Given the description of an element on the screen output the (x, y) to click on. 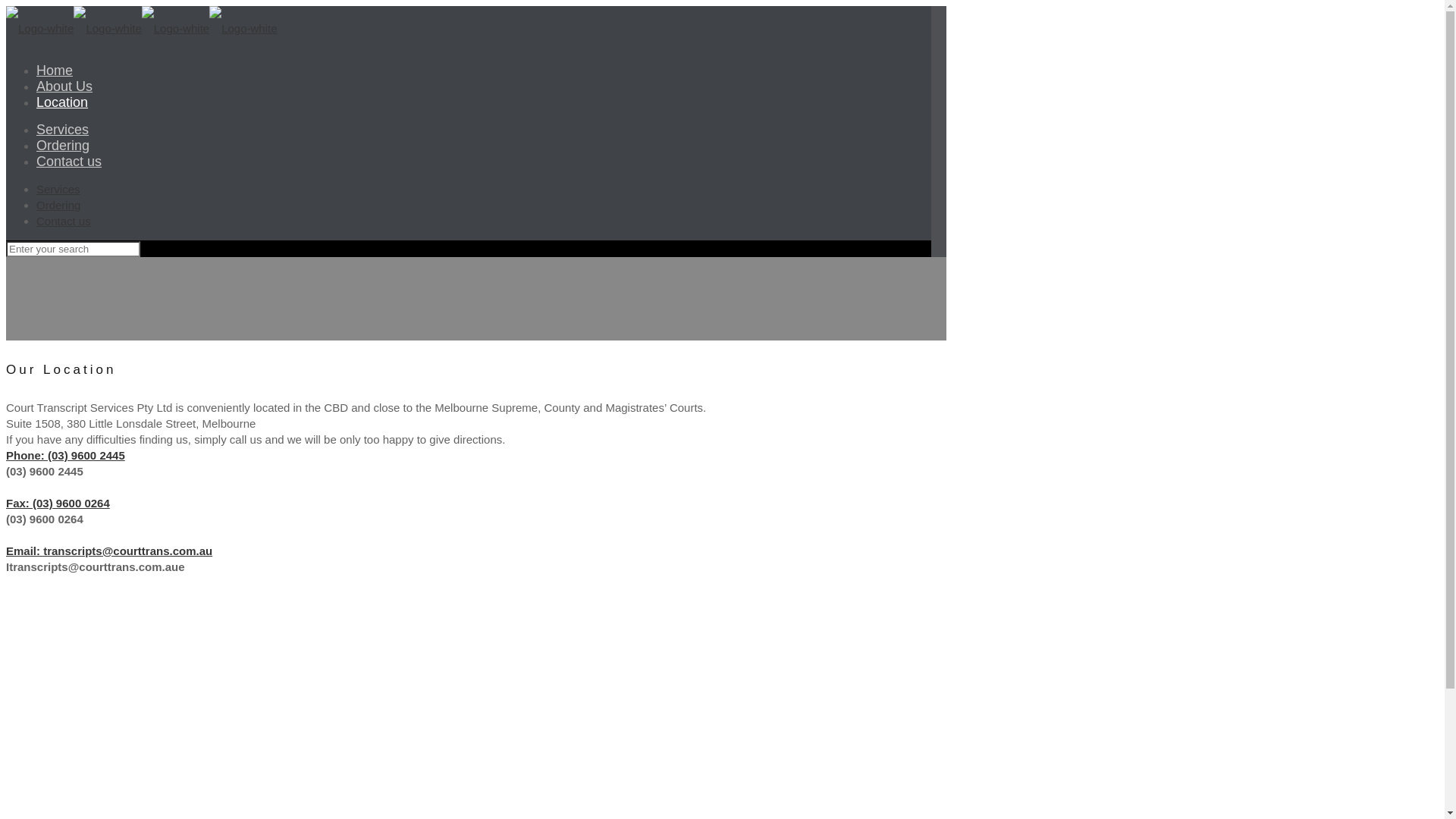
About Us Element type: text (64, 86)
Contact us Element type: text (68, 161)
Services Element type: text (62, 129)
Fax: (03) 9600 0264 Element type: text (57, 502)
Email: transcripts@courttrans.com.au Element type: text (109, 550)
Home Element type: text (54, 70)
Ordering Element type: text (62, 145)
Services Element type: text (58, 188)
Phone: (03) 9600 2445 Element type: text (65, 454)
Ordering Element type: text (58, 204)
Location Element type: text (61, 102)
Contact us Element type: text (63, 220)
